Given the description of an element on the screen output the (x, y) to click on. 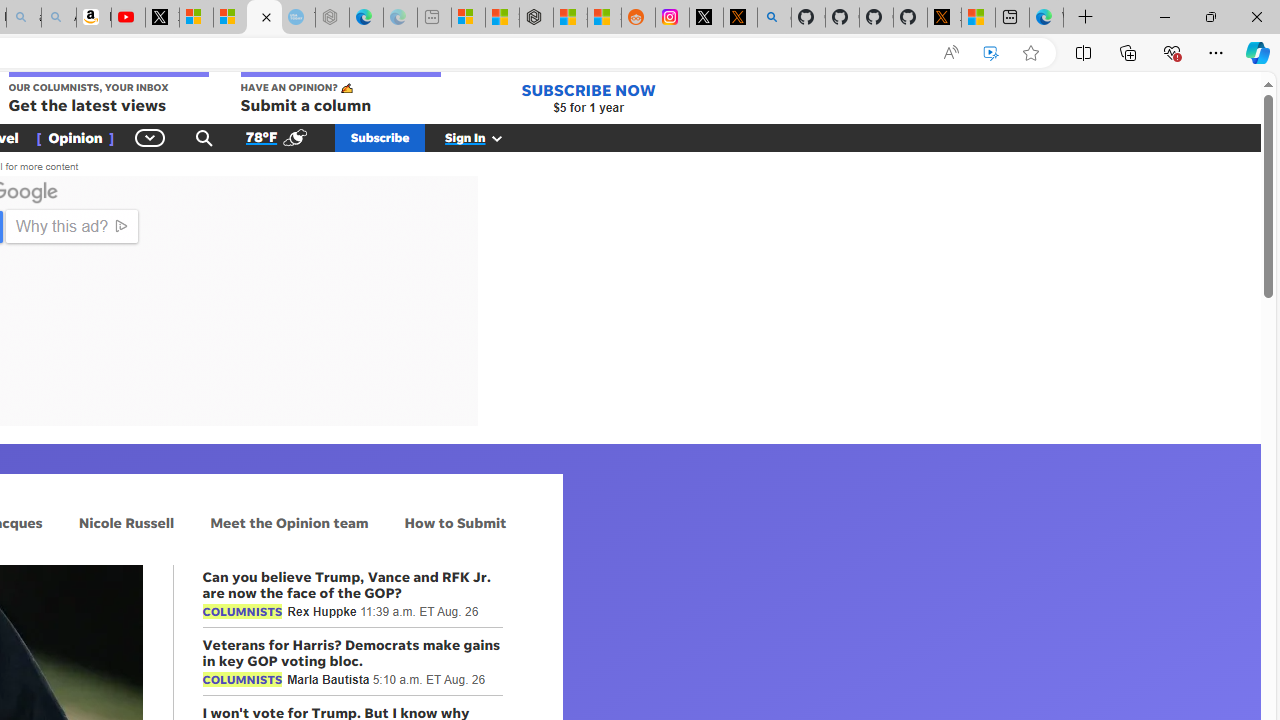
Class: gnt_n_us_a_svg (493, 137)
Sign In (485, 137)
